Given the description of an element on the screen output the (x, y) to click on. 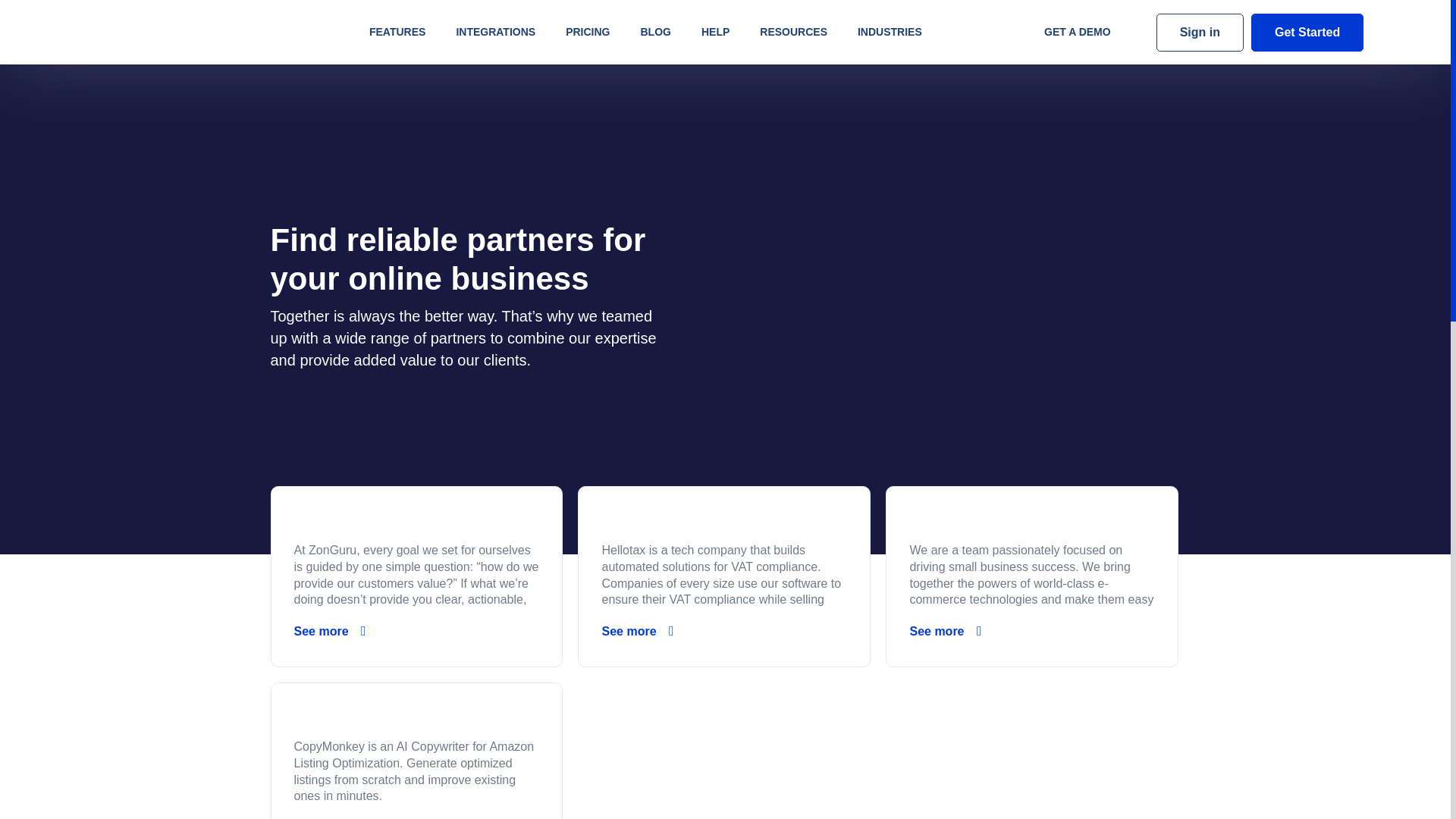
Sign in (1199, 32)
INTEGRATIONS (495, 31)
HELP (714, 31)
RESOURCES (793, 31)
Get Started (1306, 32)
PRICING (587, 31)
BLOG (654, 31)
GET A DEMO (1078, 31)
FEATURES (397, 31)
INDUSTRIES (890, 31)
